Given the description of an element on the screen output the (x, y) to click on. 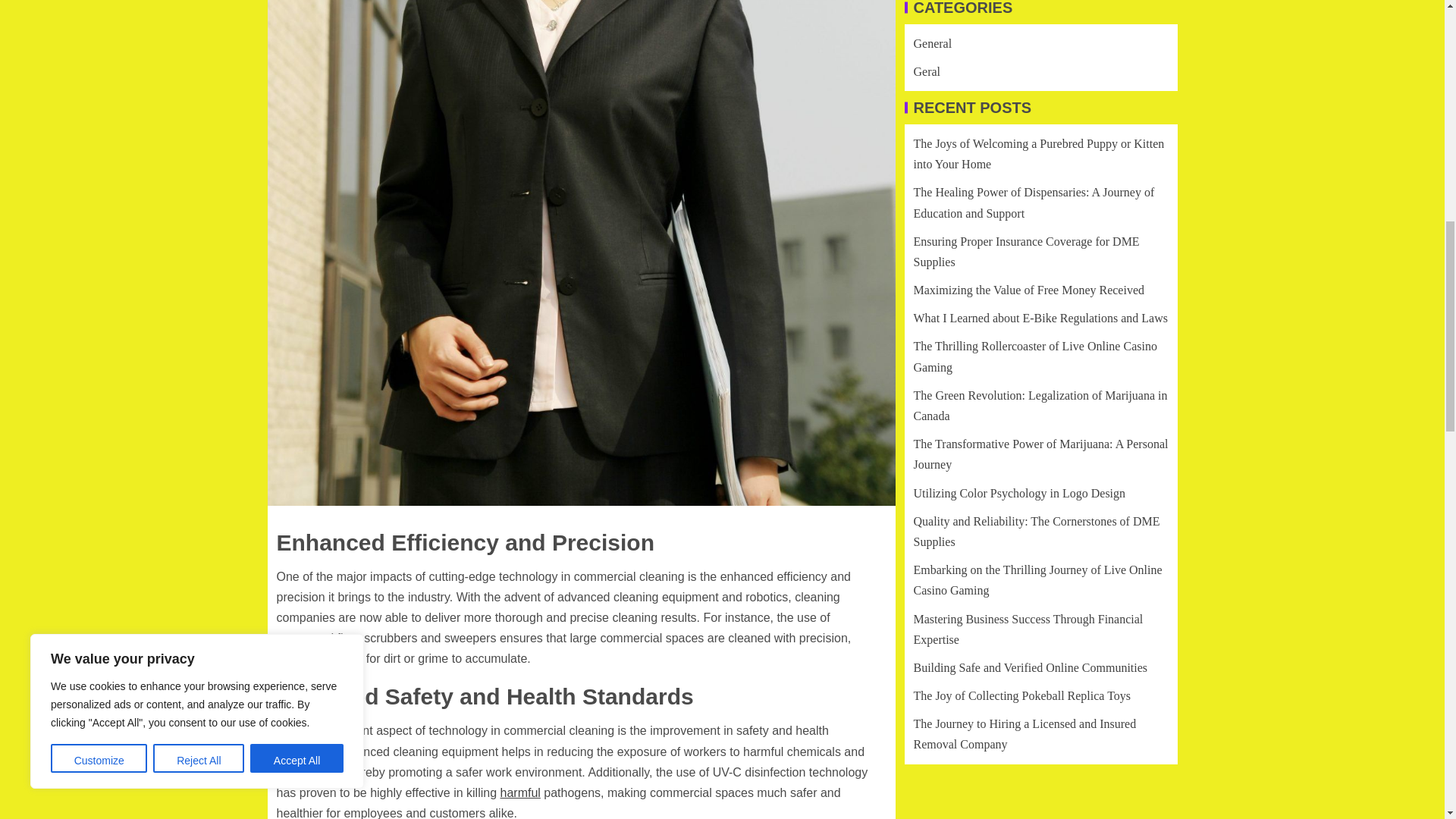
harmful (520, 792)
